Given the description of an element on the screen output the (x, y) to click on. 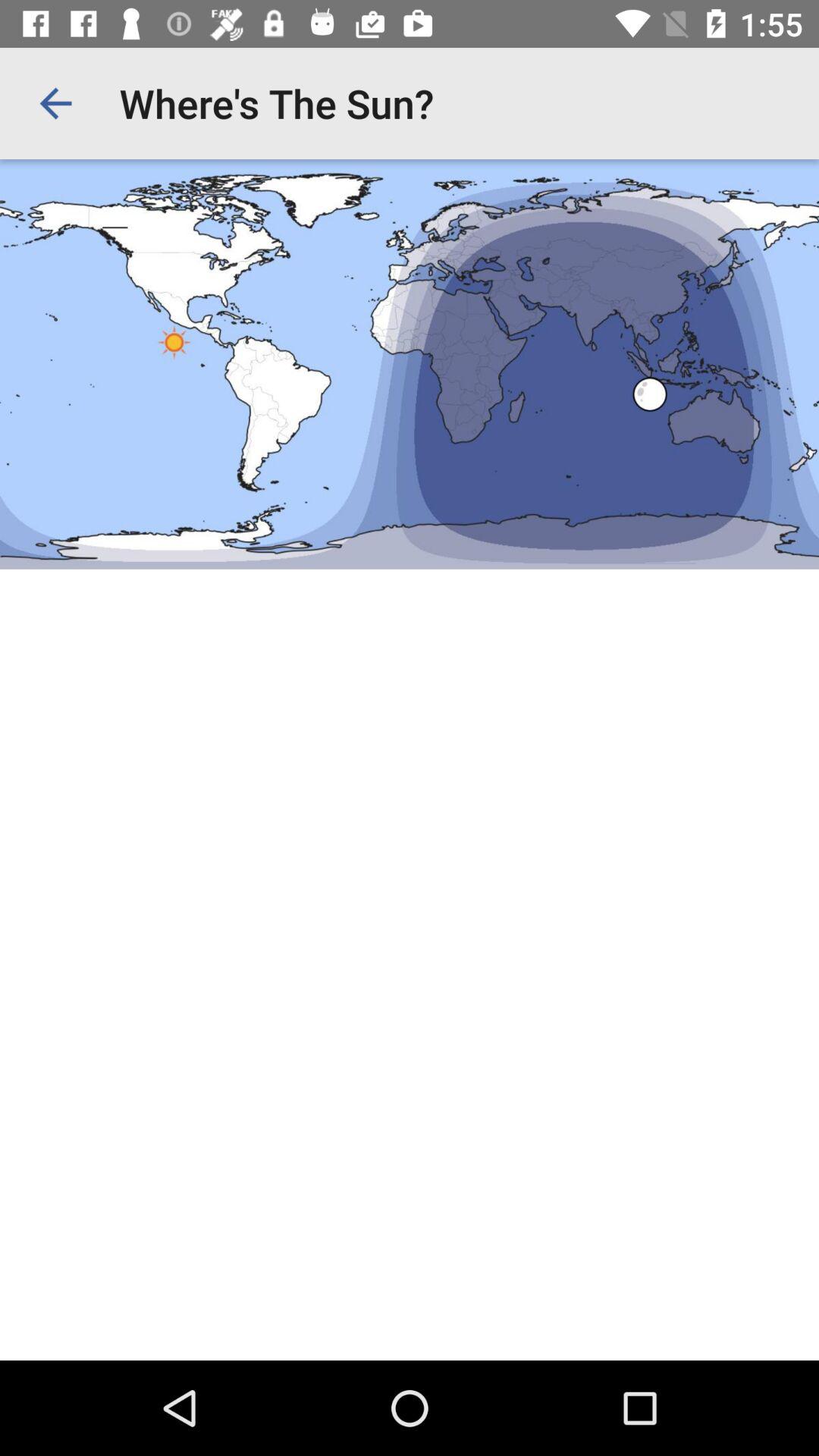
weather page (409, 709)
